Given the description of an element on the screen output the (x, y) to click on. 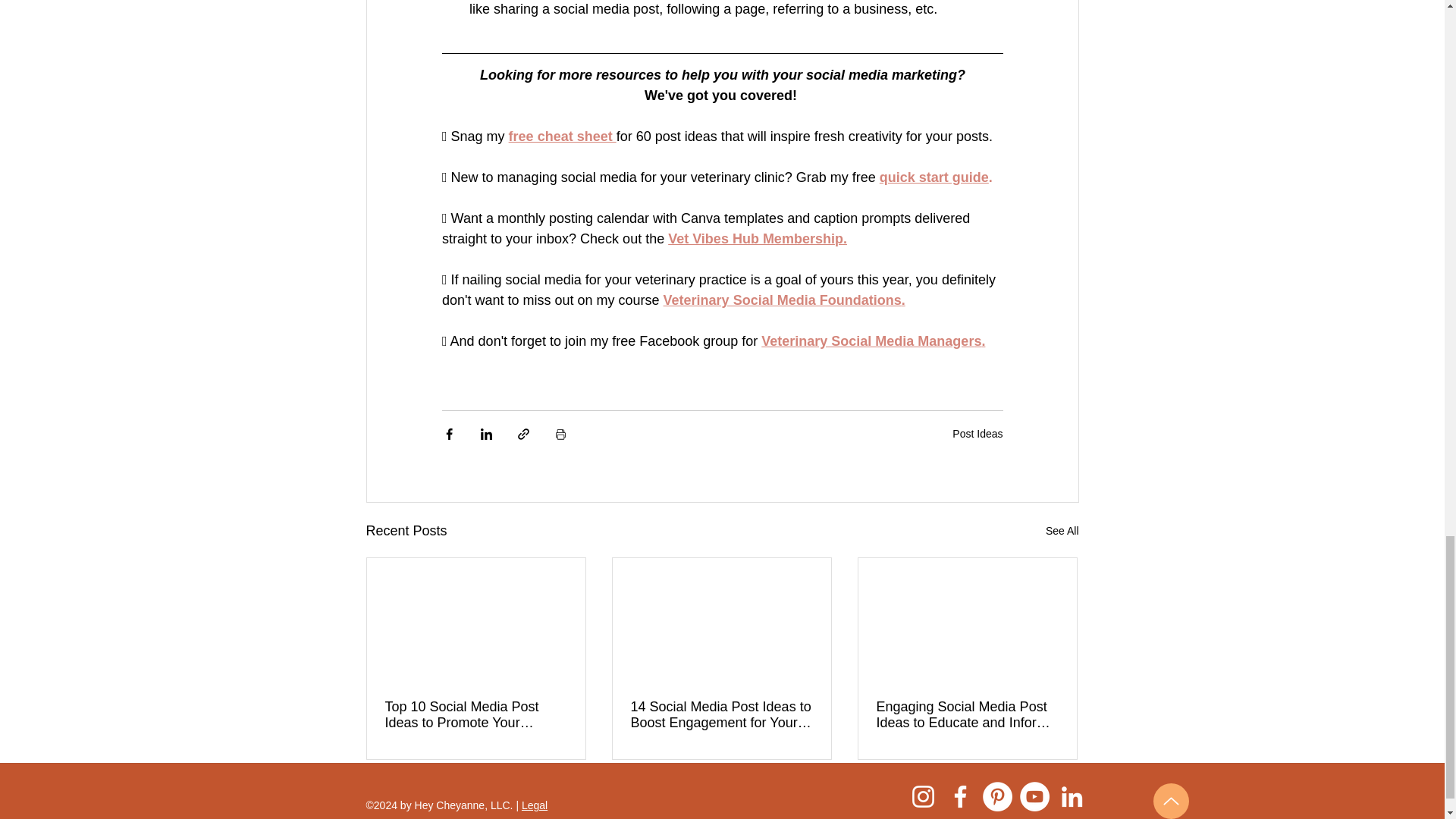
Vet Vibes Hub Membershi (751, 238)
quick start gui (925, 177)
free cheat sheet  (561, 136)
Veterinary Social Media Manager (867, 340)
de (980, 177)
See All (1061, 531)
Post Ideas (977, 433)
Veterinary Social Media Foundatio (773, 299)
ns (893, 299)
